Given the description of an element on the screen output the (x, y) to click on. 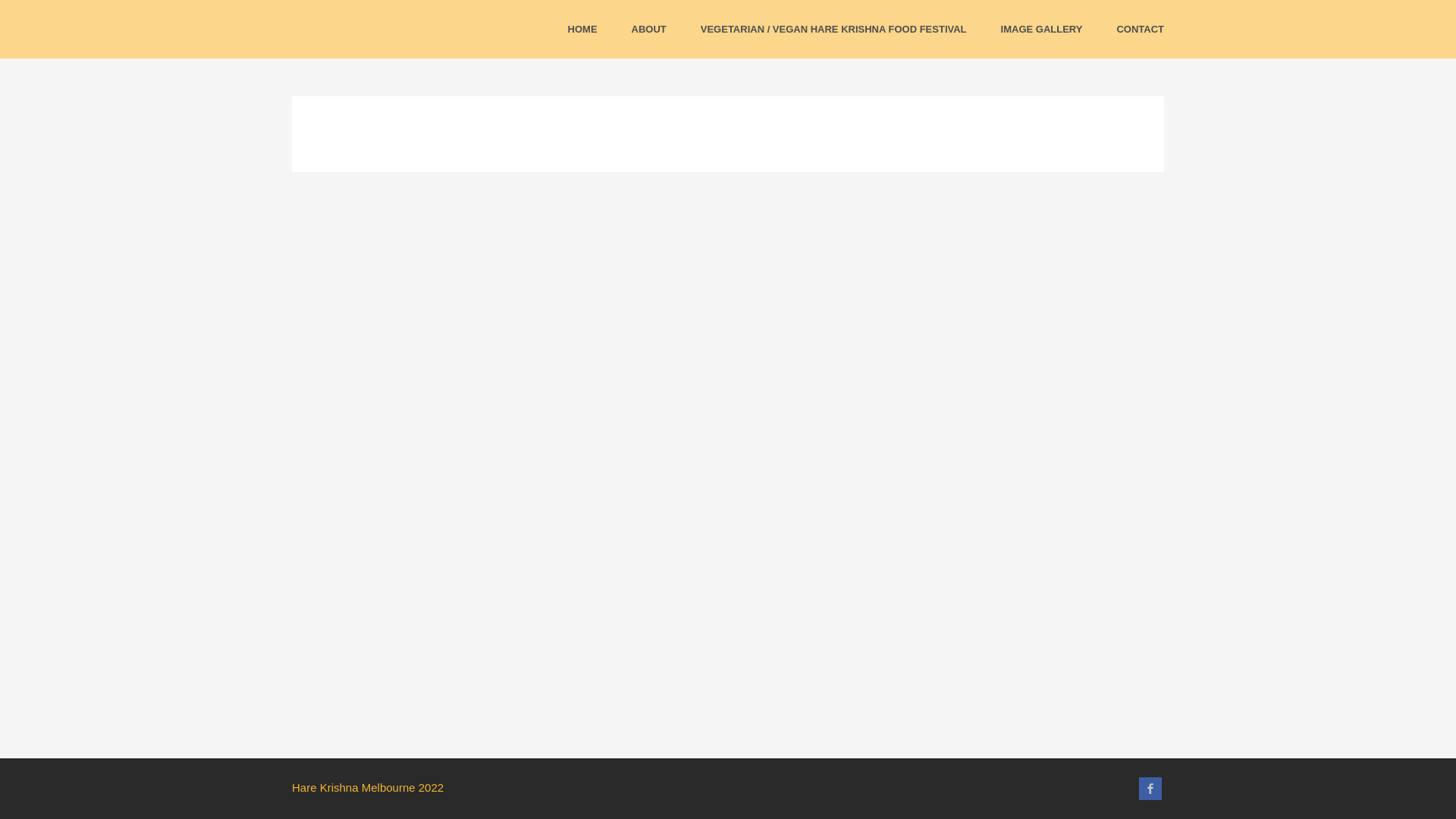
Hare Krishna Melbourne 2022 Element type: text (367, 787)
IMAGE GALLERY Element type: text (1041, 29)
VEGETARIAN / VEGAN HARE KRISHNA FOOD FESTIVAL Element type: text (833, 29)
ABOUT Element type: text (648, 29)
CONTACT Element type: text (1140, 29)
HOME Element type: text (582, 29)
